Given the description of an element on the screen output the (x, y) to click on. 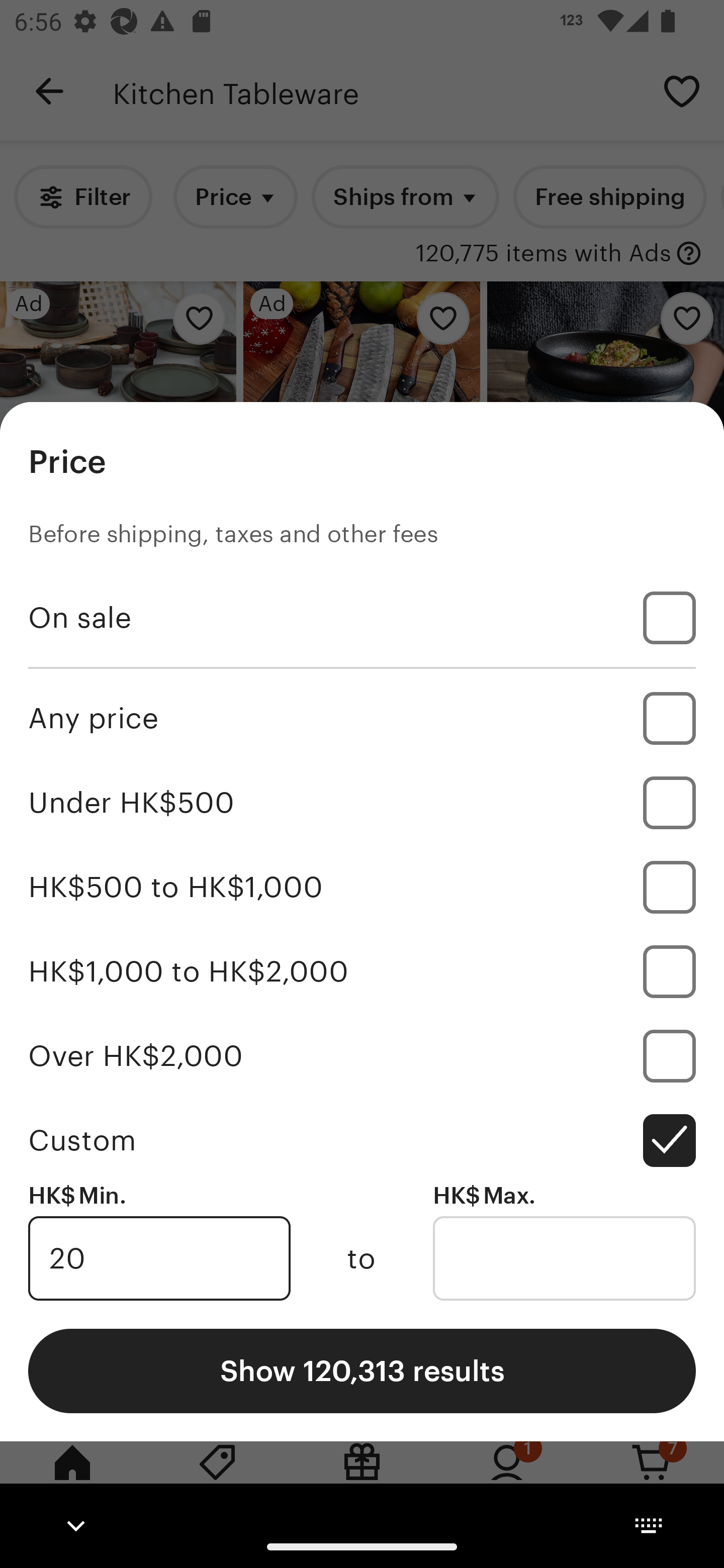
On sale (362, 617)
Any price (362, 717)
Under HK$500 (362, 802)
HK$500 to HK$1,000 (362, 887)
HK$1,000 to HK$2,000 (362, 970)
Over HK$2,000 (362, 1054)
Custom (362, 1139)
20 (159, 1257)
Show 120,313 results (361, 1370)
